Given the description of an element on the screen output the (x, y) to click on. 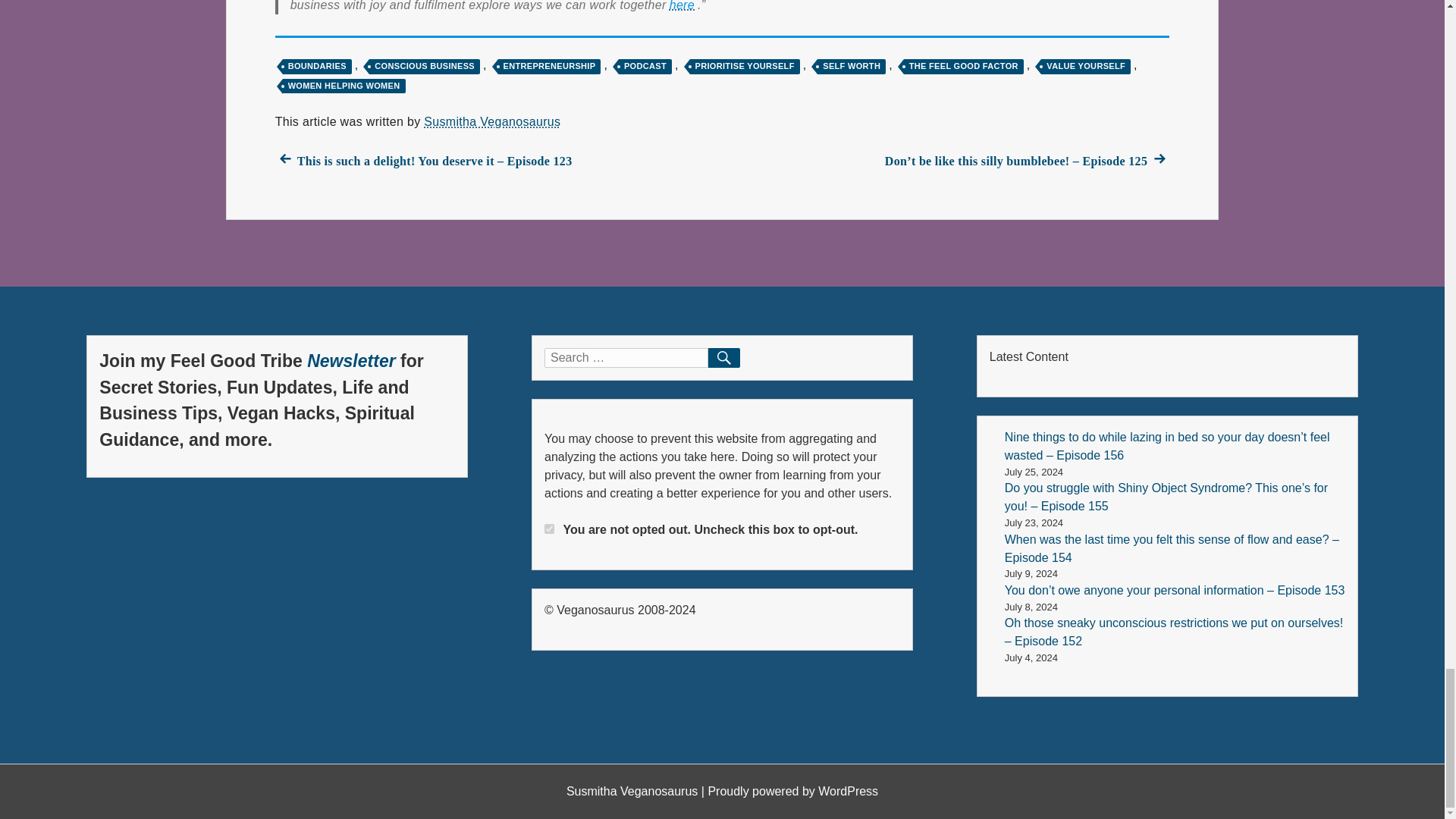
Search for: (625, 357)
on (549, 528)
